Given the description of an element on the screen output the (x, y) to click on. 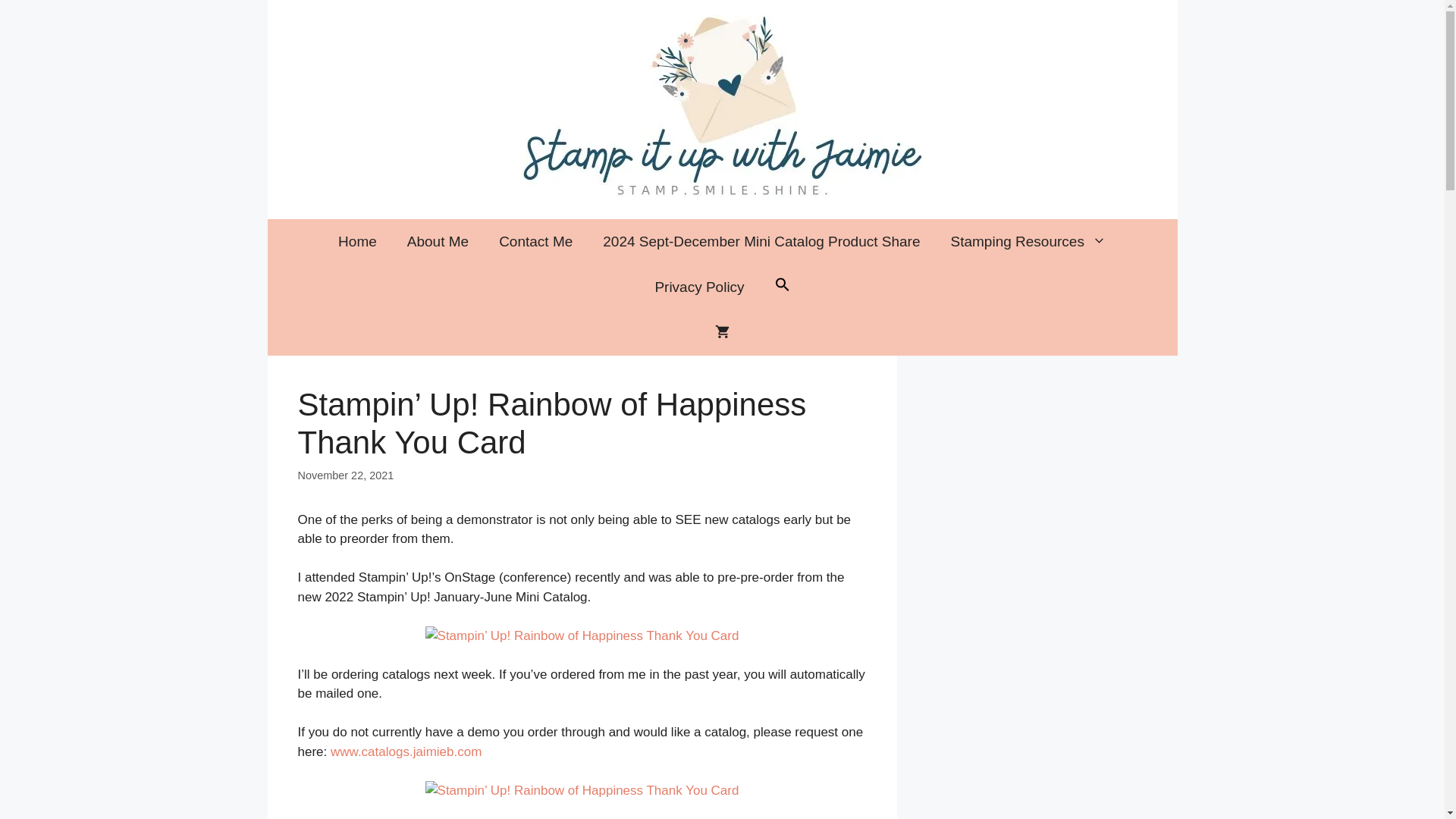
Home (357, 241)
View your shopping cart (722, 332)
www.catalogs.jaimieb.com (405, 751)
Privacy Policy (698, 287)
Contact Me (535, 241)
About Me (437, 241)
Stamping Resources (1028, 241)
2024 Sept-December Mini Catalog Product Share (761, 241)
